Given the description of an element on the screen output the (x, y) to click on. 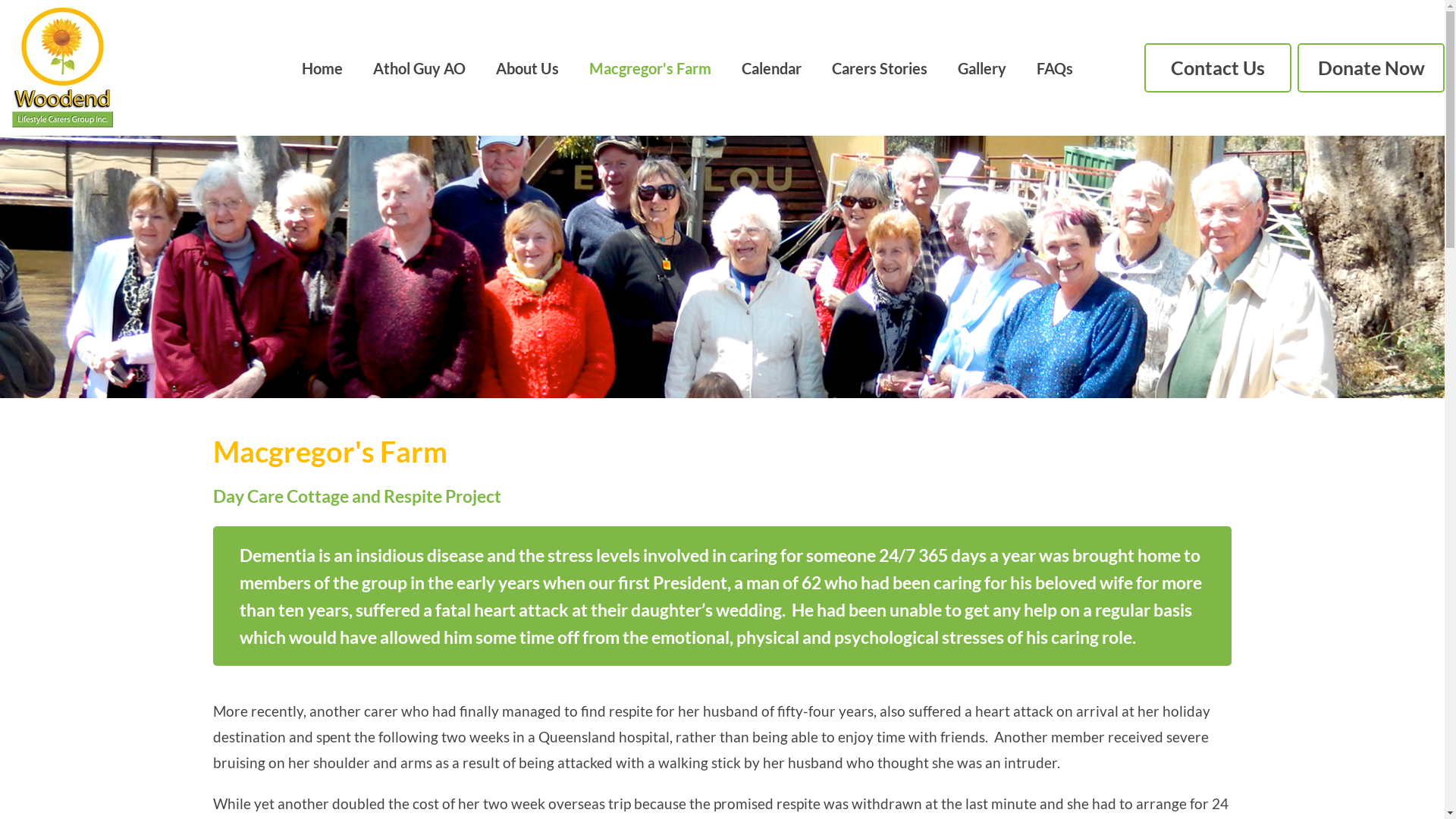
Calendar Element type: text (771, 67)
Carers Stories Element type: text (879, 67)
FAQs Element type: text (1054, 67)
About Us Element type: text (526, 67)
Gallery Element type: text (981, 67)
Donate Now Element type: text (1370, 67)
Macgregor's Farm Element type: text (650, 67)
Athol Guy AO Element type: text (419, 67)
Home Element type: text (321, 67)
Contact Us Element type: text (1217, 67)
